Given the description of an element on the screen output the (x, y) to click on. 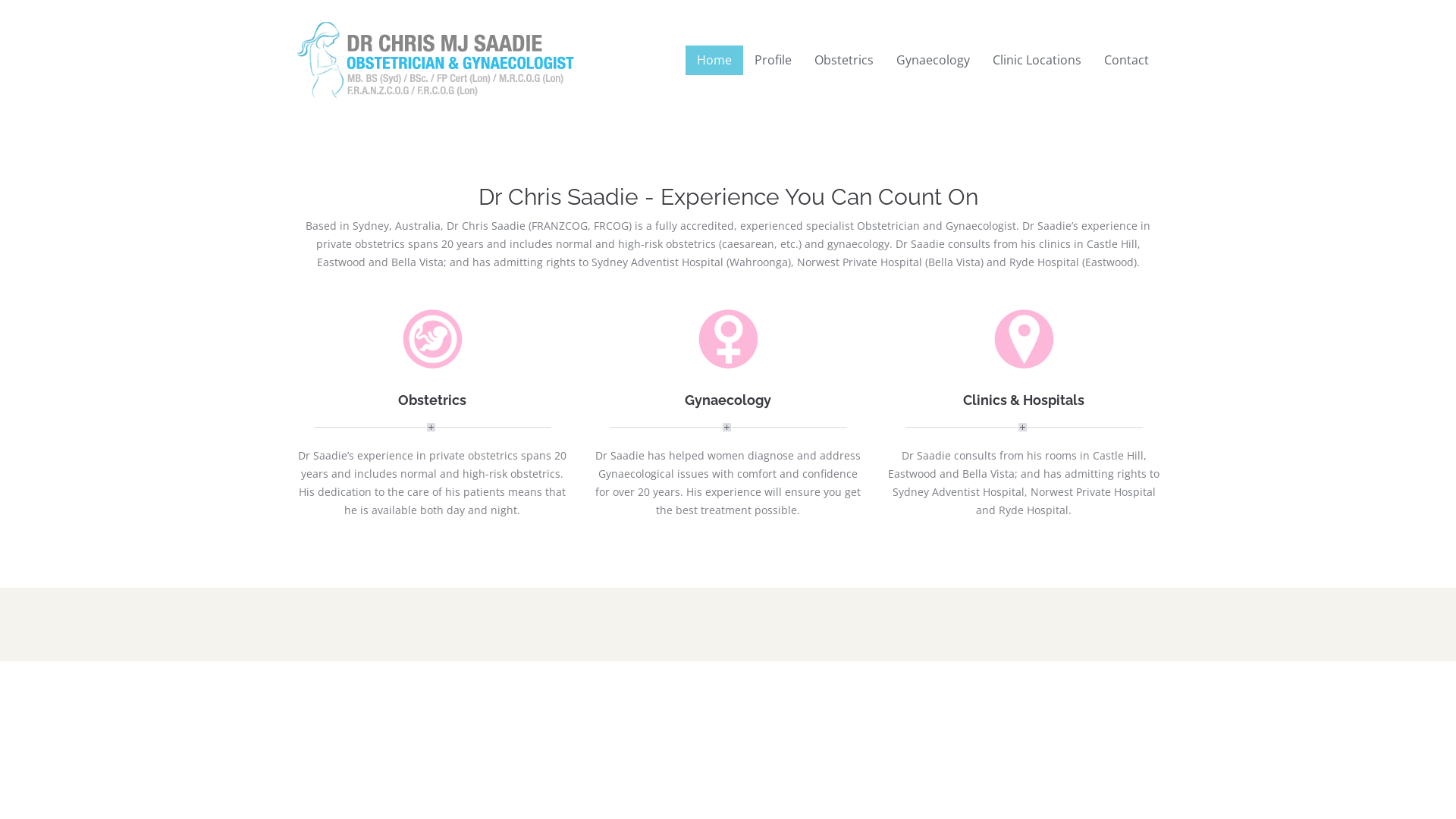
Gynaecology Element type: text (932, 60)
Profile Element type: text (773, 60)
Obstetrics Element type: text (843, 60)
Contact Element type: text (1126, 60)
Clinic Locations Element type: text (1036, 60)
Home Element type: text (714, 60)
